Given the description of an element on the screen output the (x, y) to click on. 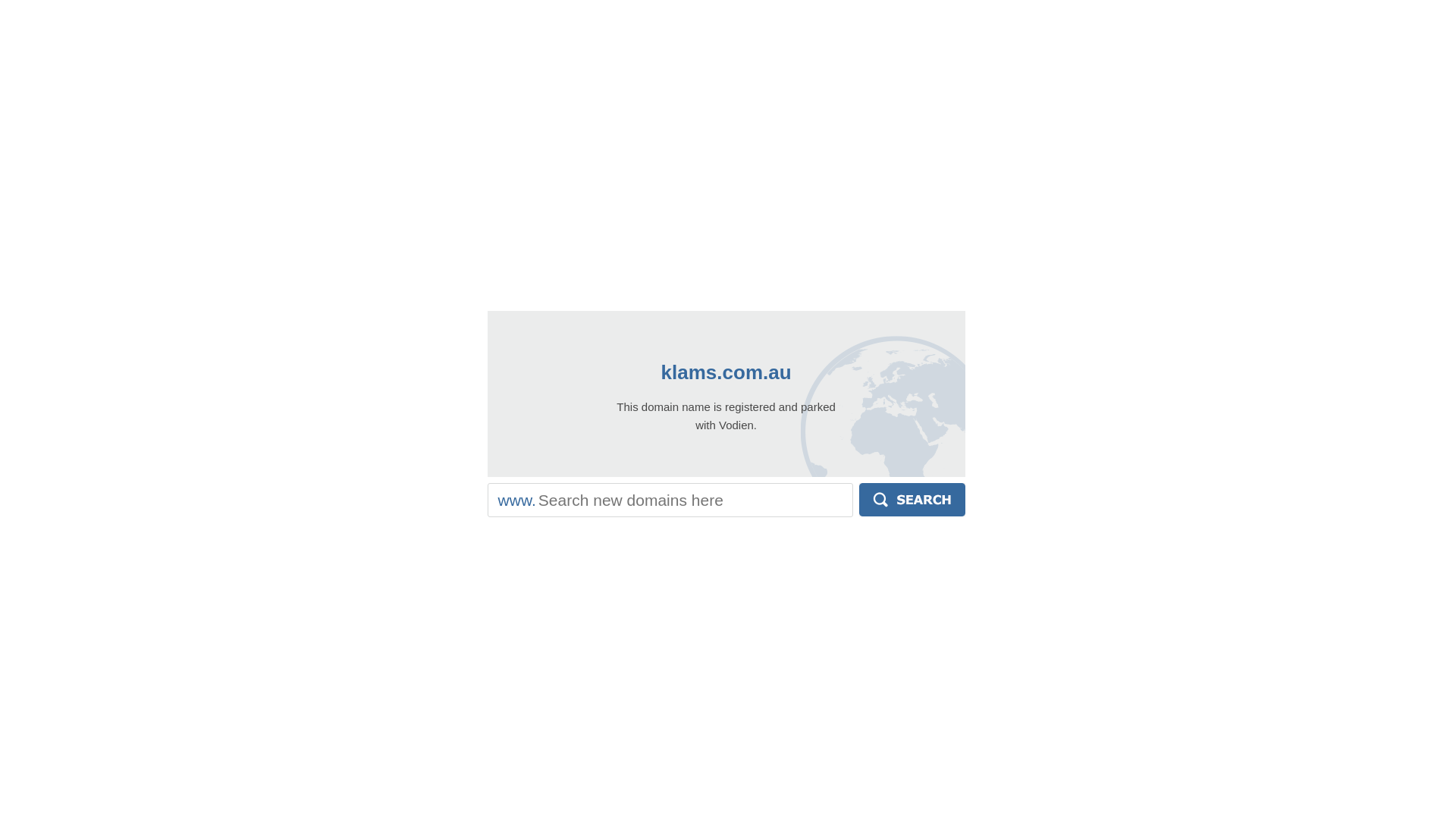
Search Element type: text (912, 499)
